Given the description of an element on the screen output the (x, y) to click on. 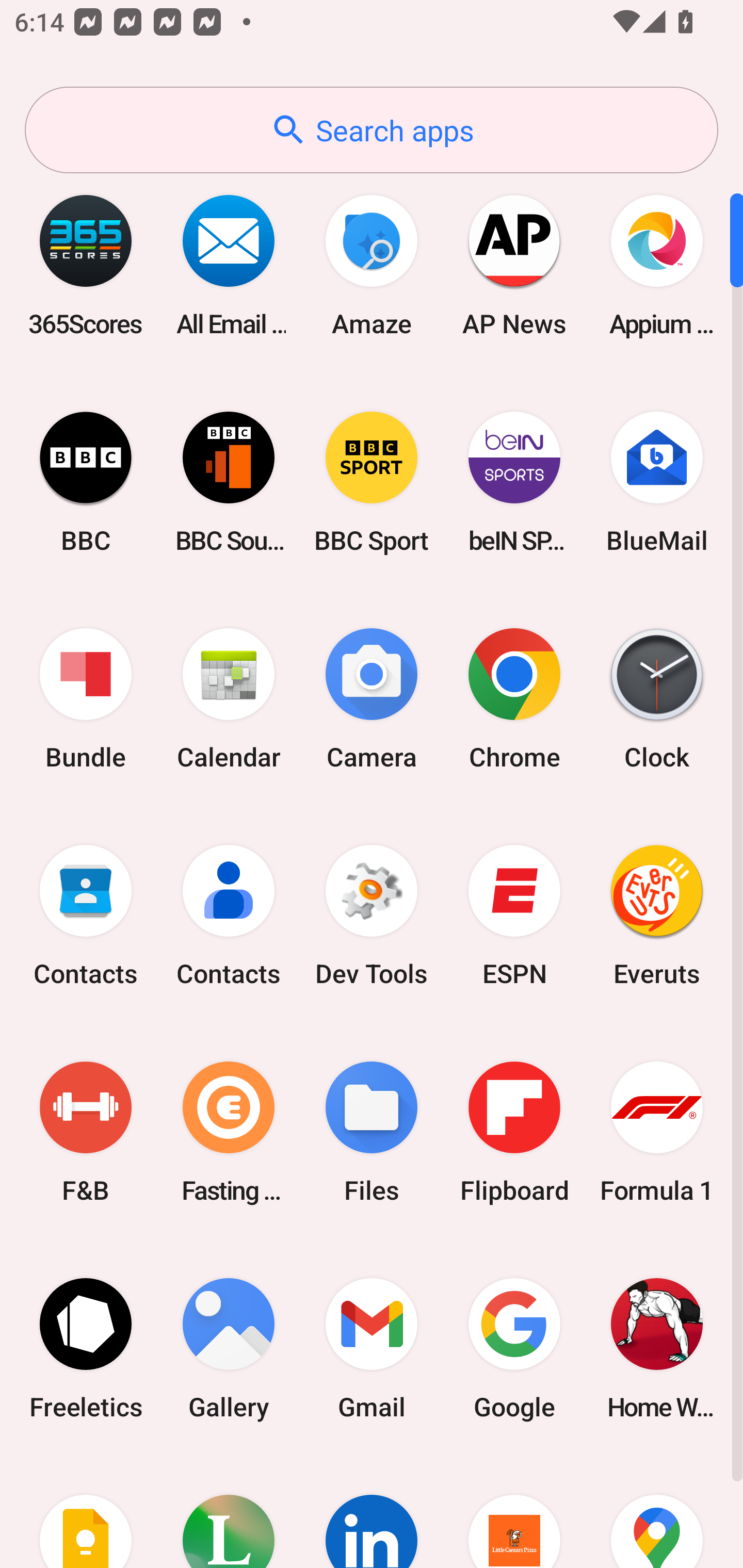
  Search apps (371, 130)
365Scores (85, 264)
All Email Connect (228, 264)
Amaze (371, 264)
AP News (514, 264)
Appium Settings (656, 264)
BBC (85, 482)
BBC Sounds (228, 482)
BBC Sport (371, 482)
beIN SPORTS (514, 482)
BlueMail (656, 482)
Bundle (85, 699)
Calendar (228, 699)
Camera (371, 699)
Chrome (514, 699)
Clock (656, 699)
Contacts (85, 915)
Contacts (228, 915)
Dev Tools (371, 915)
ESPN (514, 915)
Everuts (656, 915)
F&B (85, 1131)
Fasting Coach (228, 1131)
Files (371, 1131)
Flipboard (514, 1131)
Formula 1 (656, 1131)
Freeletics (85, 1348)
Gallery (228, 1348)
Gmail (371, 1348)
Google (514, 1348)
Home Workout (656, 1348)
Keep Notes (85, 1512)
Lifesum (228, 1512)
LinkedIn (371, 1512)
Little Caesars Pizza (514, 1512)
Maps (656, 1512)
